Given the description of an element on the screen output the (x, y) to click on. 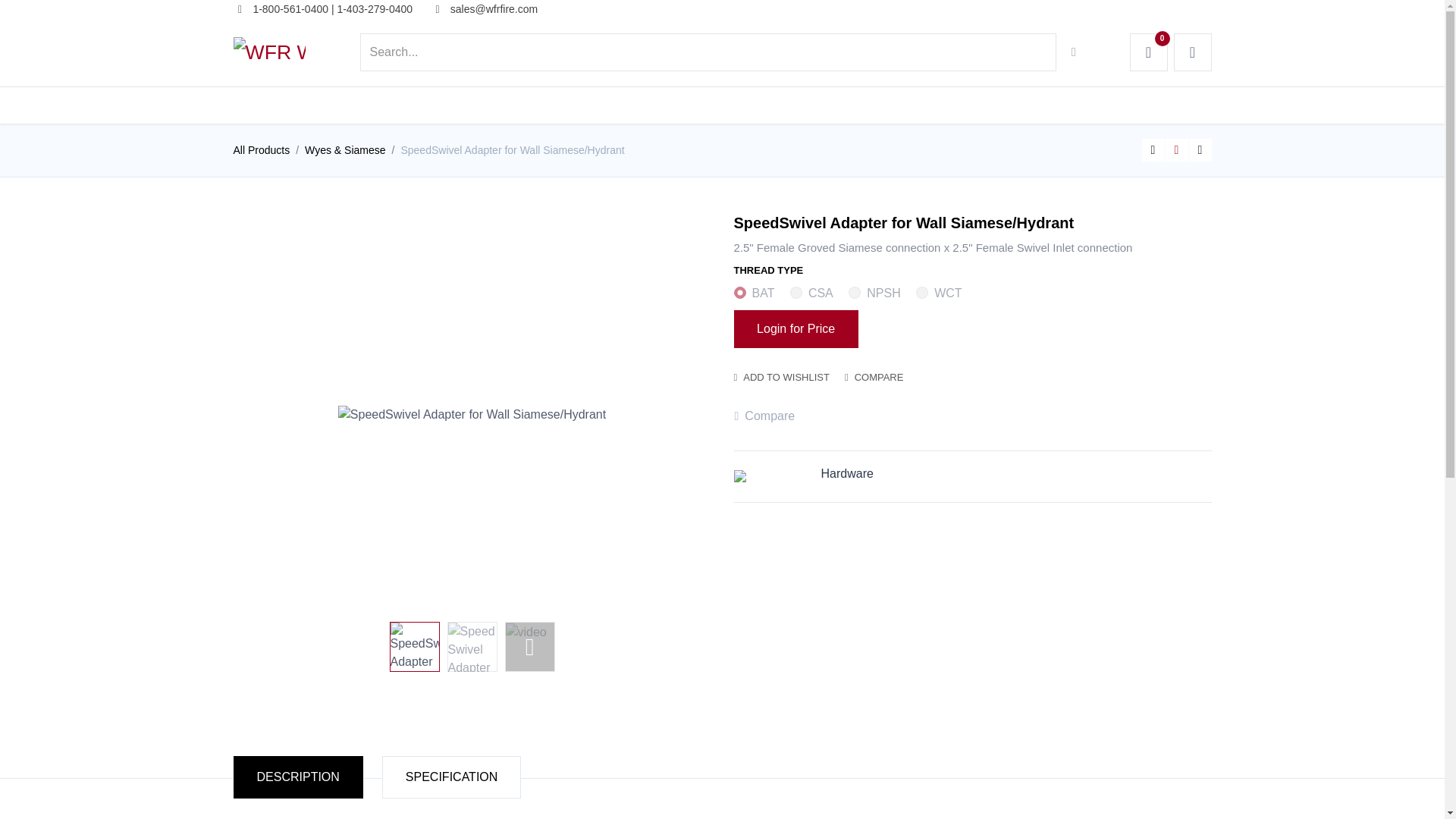
Search (1074, 52)
All Products (260, 150)
0 (1148, 52)
4934 (854, 292)
4931 (739, 292)
Sign in (1192, 52)
4932 (921, 292)
Login for Price (796, 329)
Add to wishlist (781, 377)
4933 (796, 292)
